Given the description of an element on the screen output the (x, y) to click on. 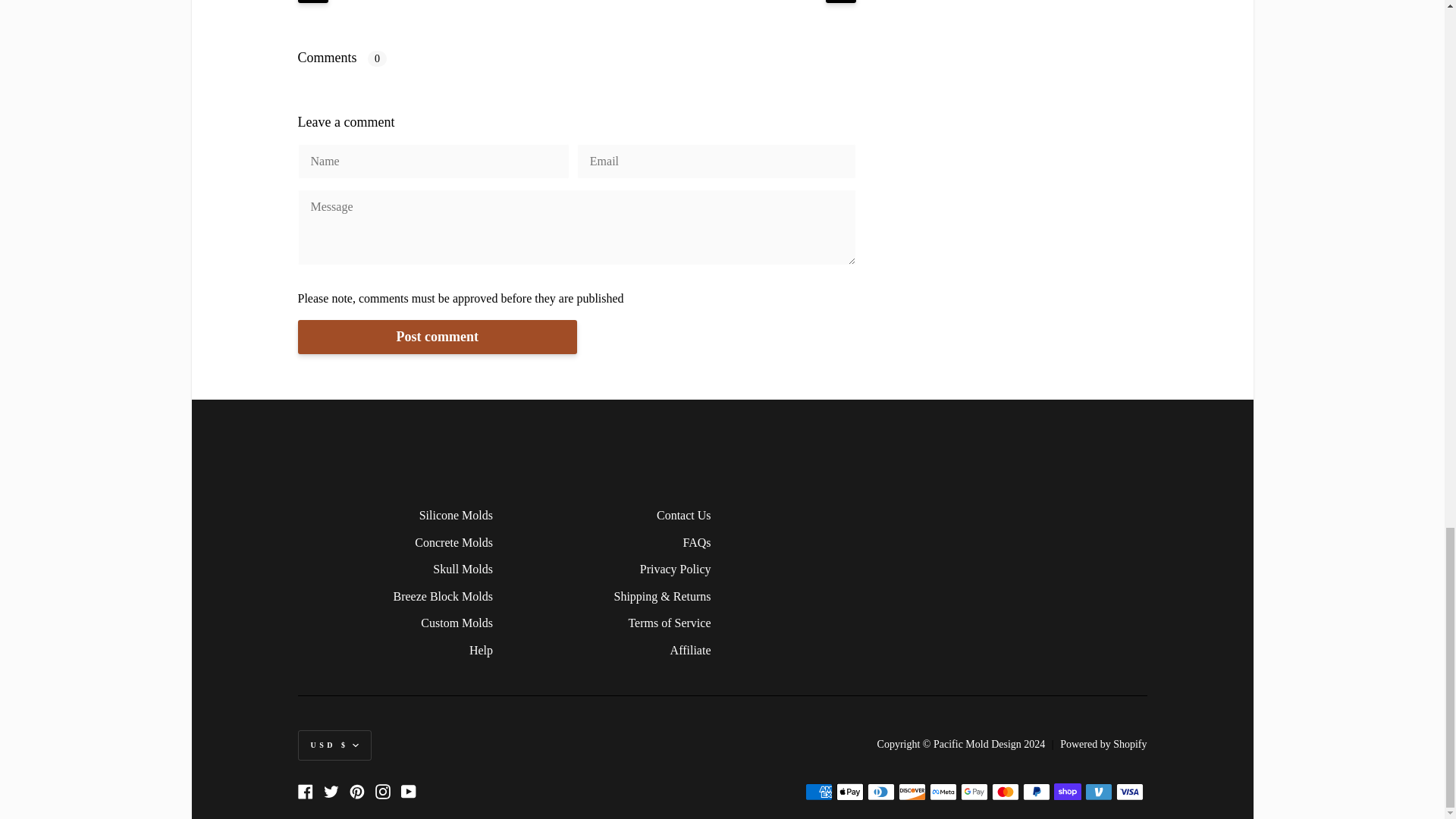
Pacific Mold Design on Facebook (305, 791)
Pacific Mold Design on Twitter (330, 791)
Post comment (436, 336)
